Given the description of an element on the screen output the (x, y) to click on. 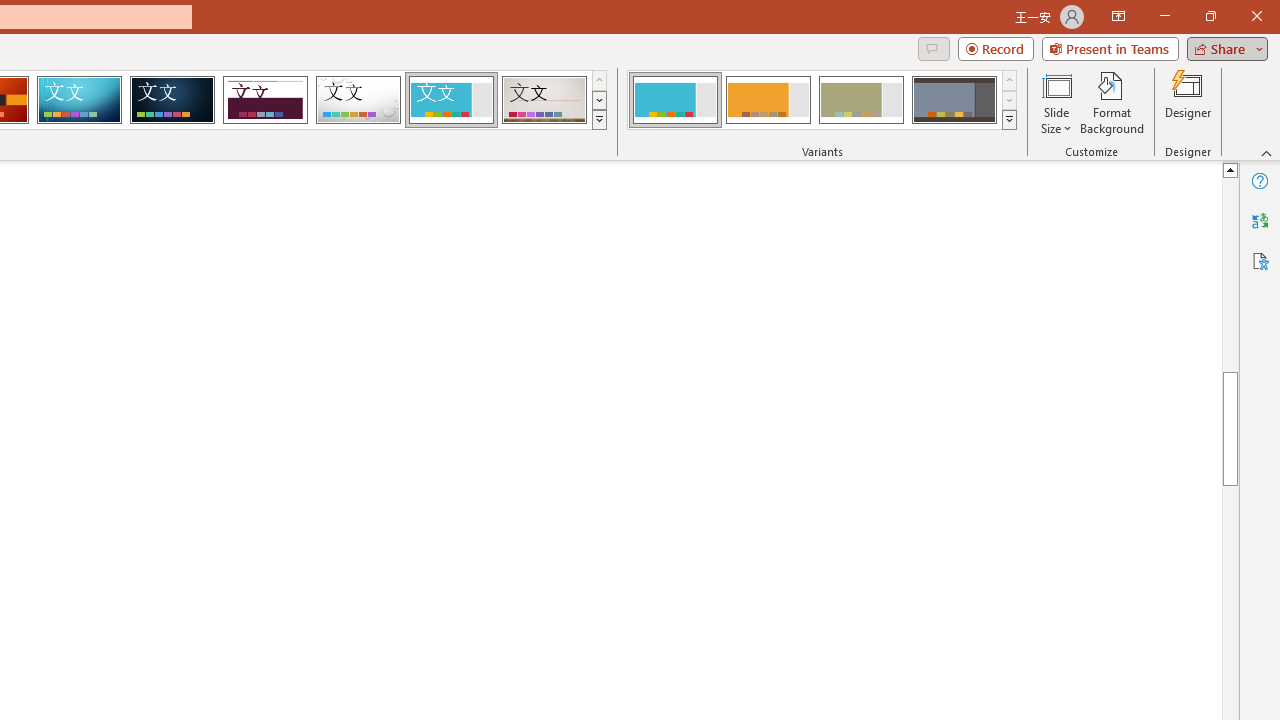
Frame Variant 1 (674, 100)
Frame Variant 4 (953, 100)
Frame Variant 2 (768, 100)
